Given the description of an element on the screen output the (x, y) to click on. 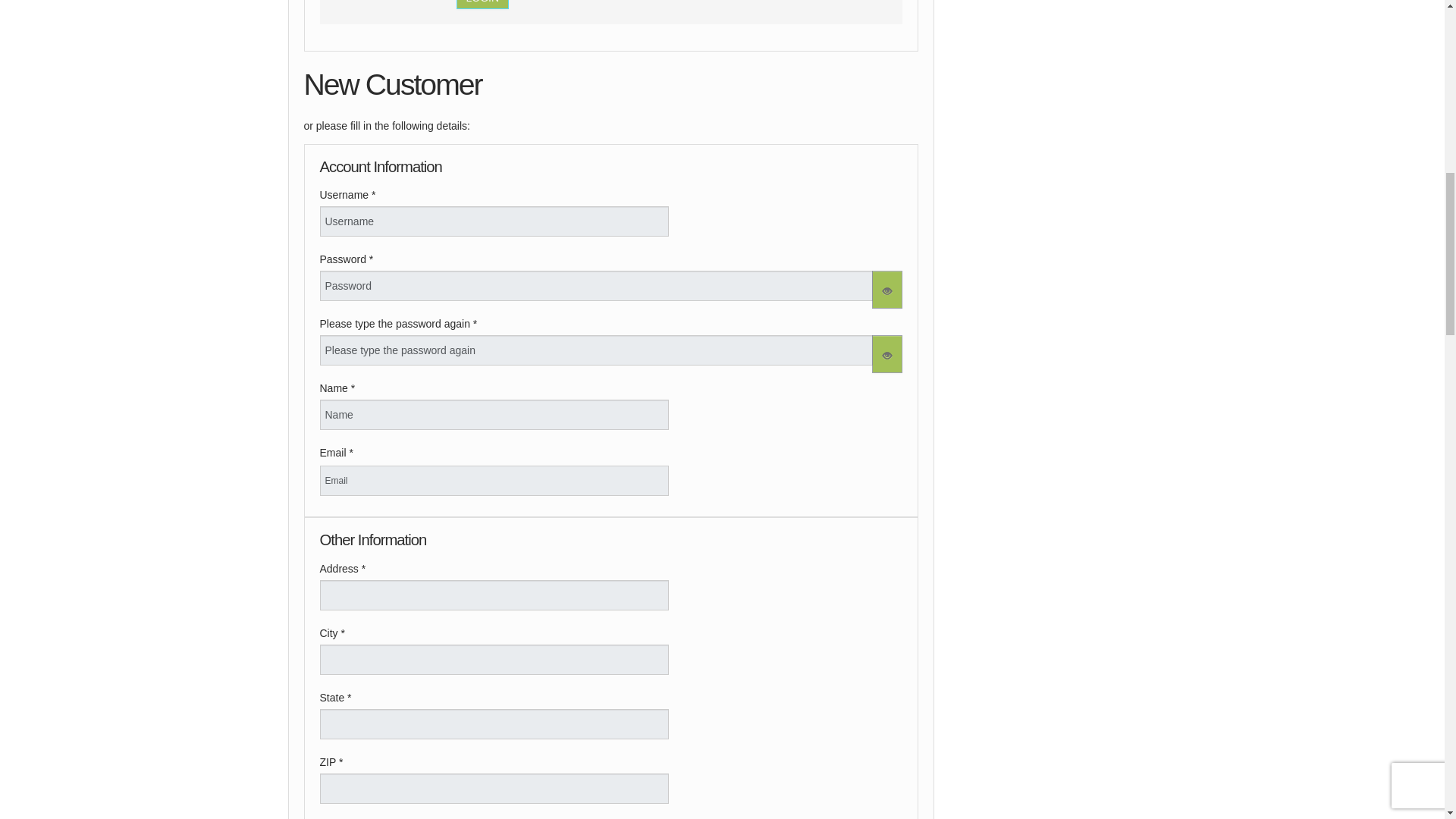
LOGIN (483, 4)
